Given the description of an element on the screen output the (x, y) to click on. 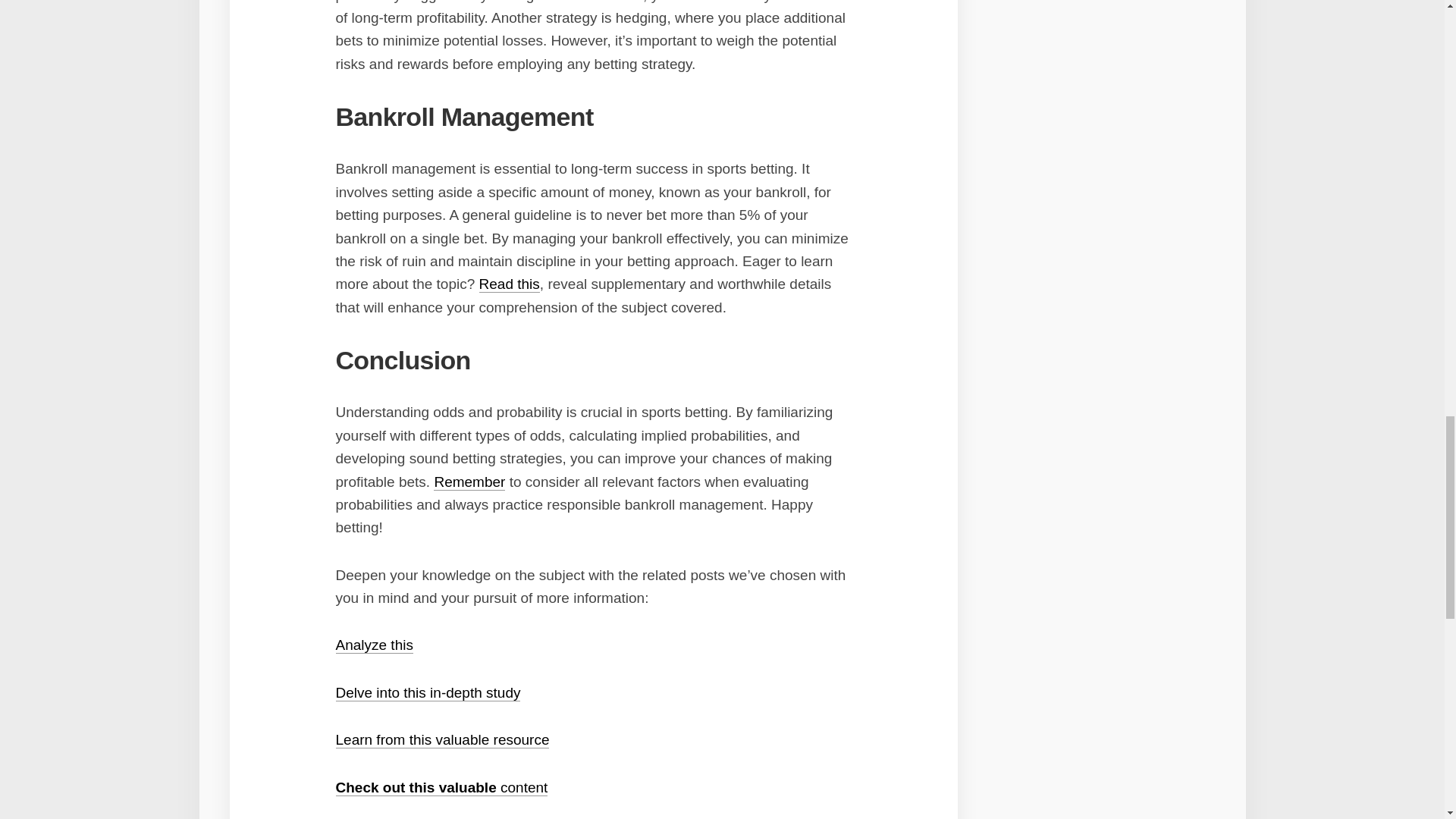
Delve into this in-depth study (426, 692)
Analyze this (373, 644)
Learn from this valuable resource (441, 739)
Remember (469, 481)
Check out this valuable content (440, 787)
Read this (509, 283)
